Given the description of an element on the screen output the (x, y) to click on. 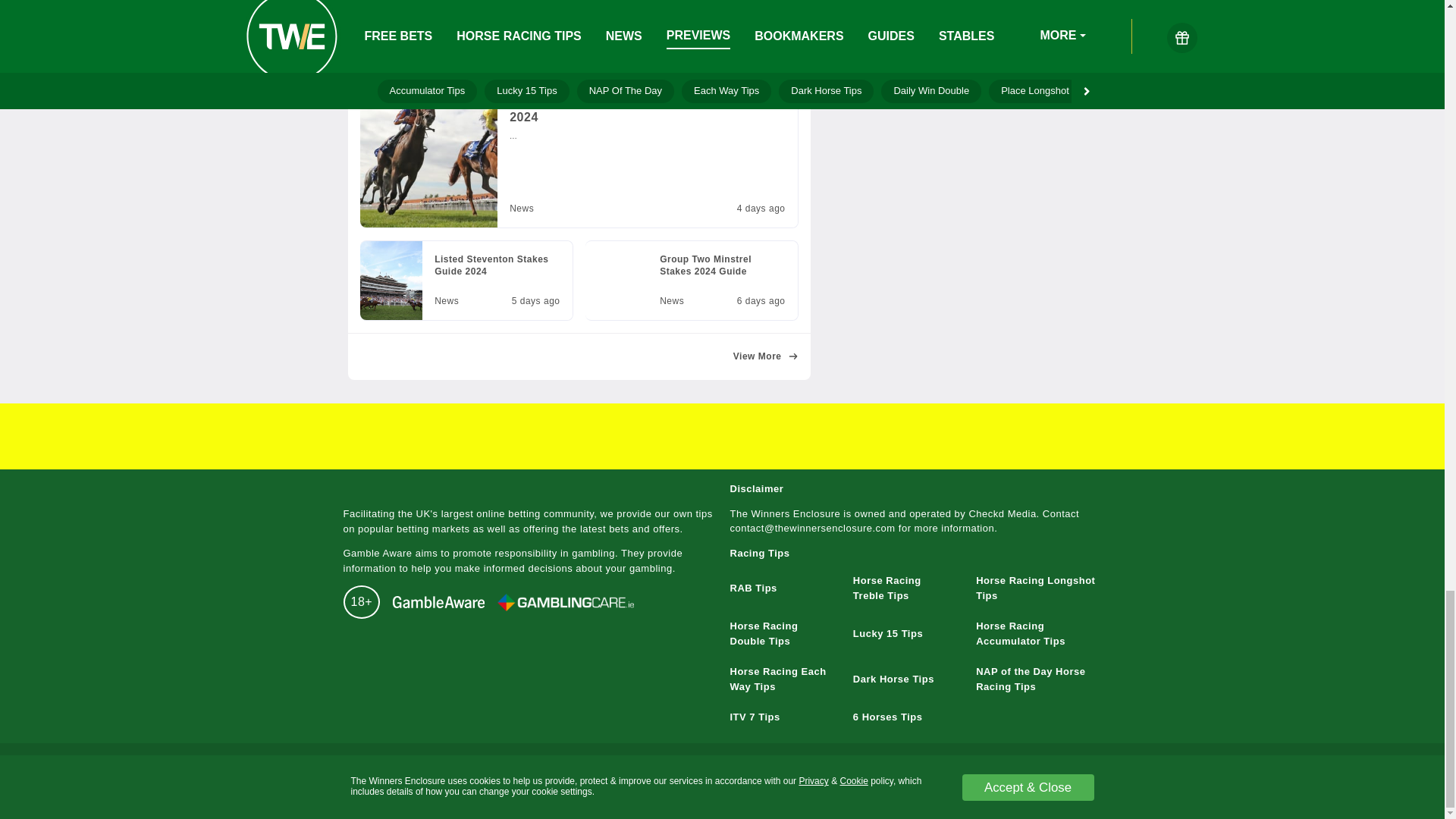
Related News (578, 200)
View More (765, 357)
Racing Tips (691, 280)
